Given the description of an element on the screen output the (x, y) to click on. 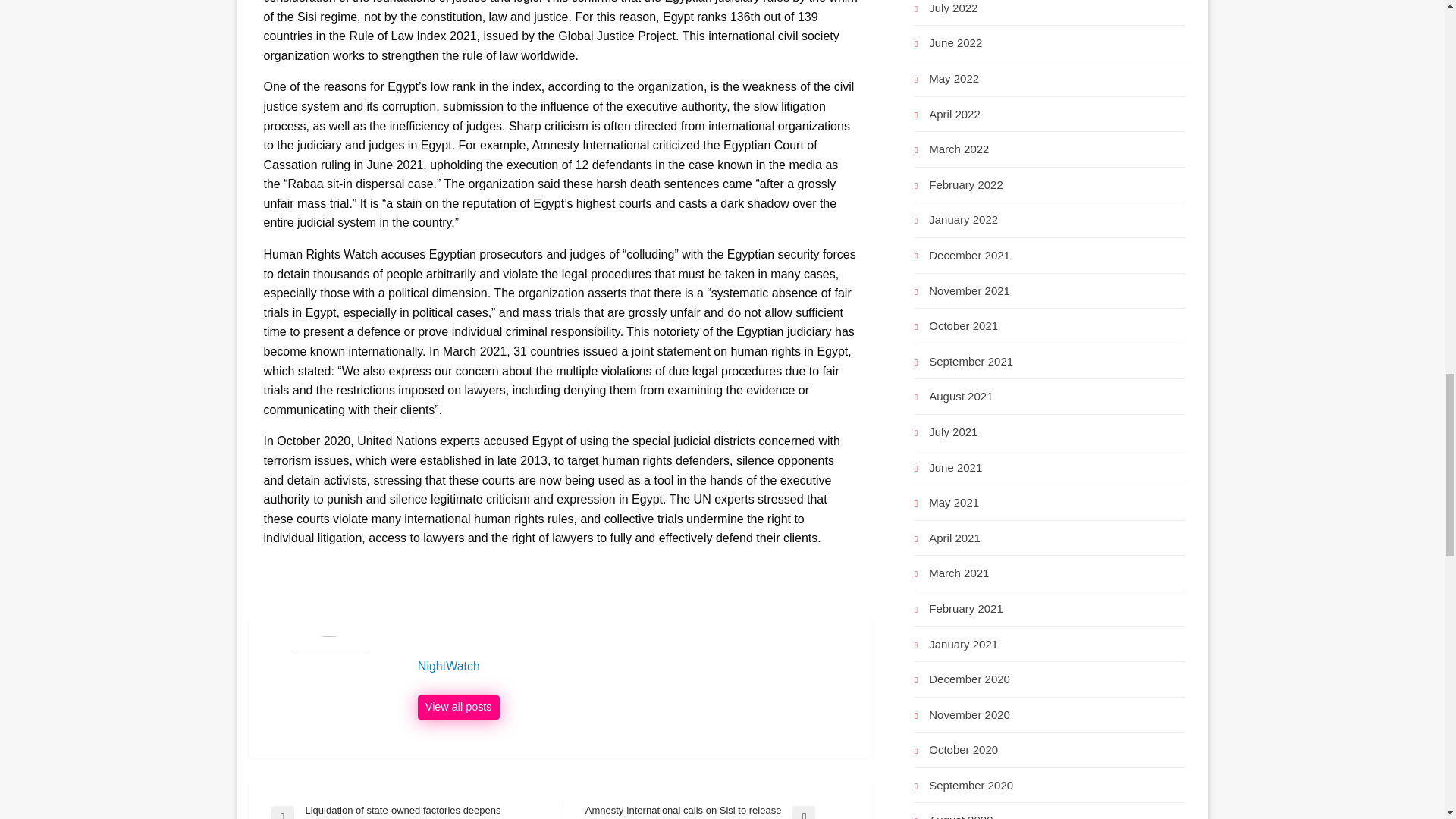
NightWatch (637, 666)
NightWatch (458, 707)
View all posts (458, 707)
NightWatch (637, 666)
